Given the description of an element on the screen output the (x, y) to click on. 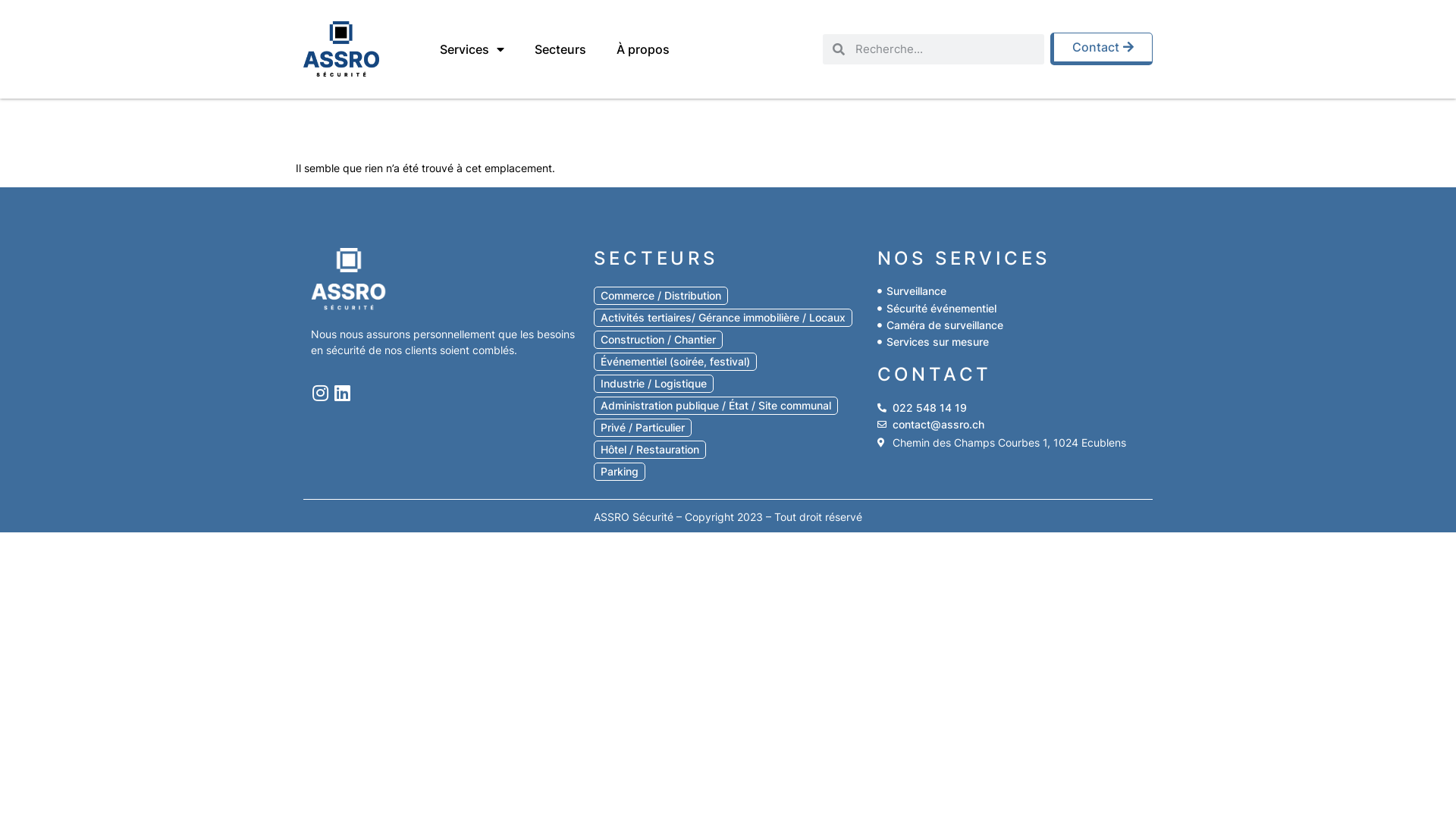
Contact Element type: text (1101, 48)
contact@assro.ch Element type: text (1011, 424)
Services Element type: text (471, 48)
Industrie / Logistique Element type: text (653, 382)
Parking Element type: text (619, 470)
Construction / Chantier Element type: text (657, 338)
Commerce / Distribution Element type: text (660, 294)
Surveillance Element type: text (1011, 291)
Services sur mesure Element type: text (1011, 341)
Secteurs Element type: text (560, 48)
022 548 14 19 Element type: text (1011, 407)
